Given the description of an element on the screen output the (x, y) to click on. 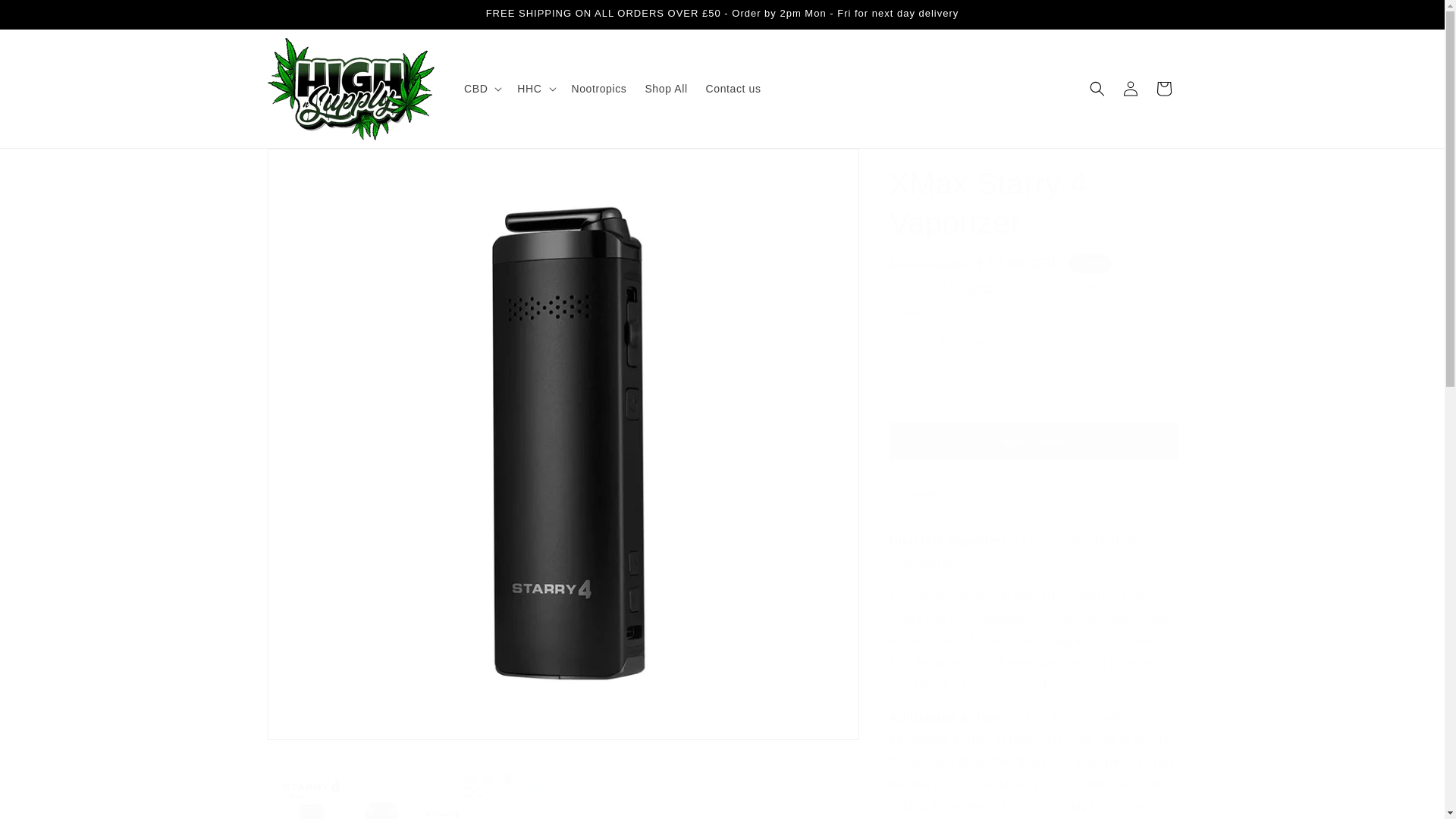
Open media 3 in modal (711, 780)
1 (941, 343)
Contact us (733, 88)
Open media 2 in modal (413, 780)
Shop All (664, 88)
Nootropics (599, 88)
Skip to content (45, 17)
